Given the description of an element on the screen output the (x, y) to click on. 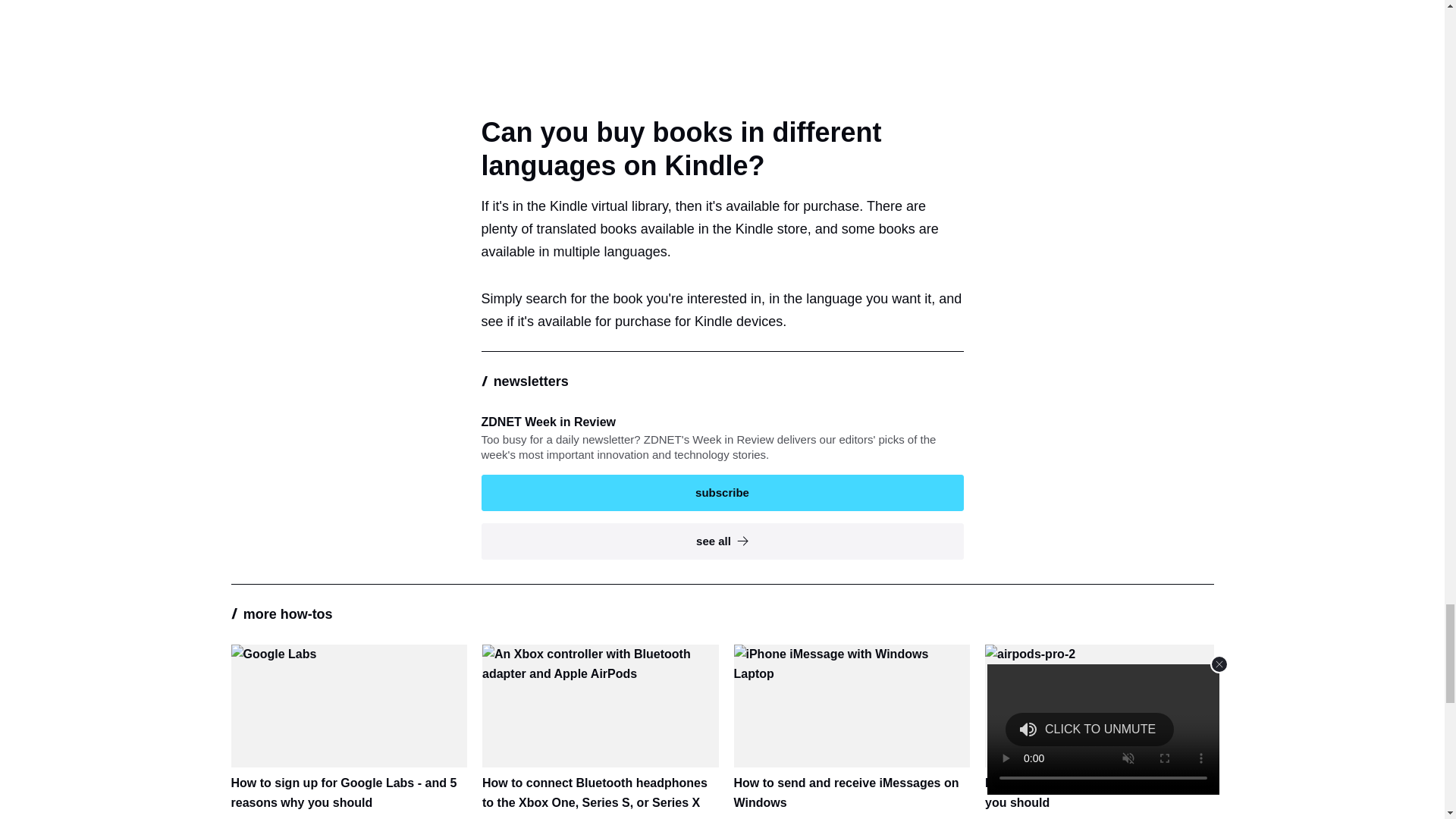
How to reset your AirPods - and when you should (1103, 728)
How to send and receive iMessages on Windows (852, 728)
